Given the description of an element on the screen output the (x, y) to click on. 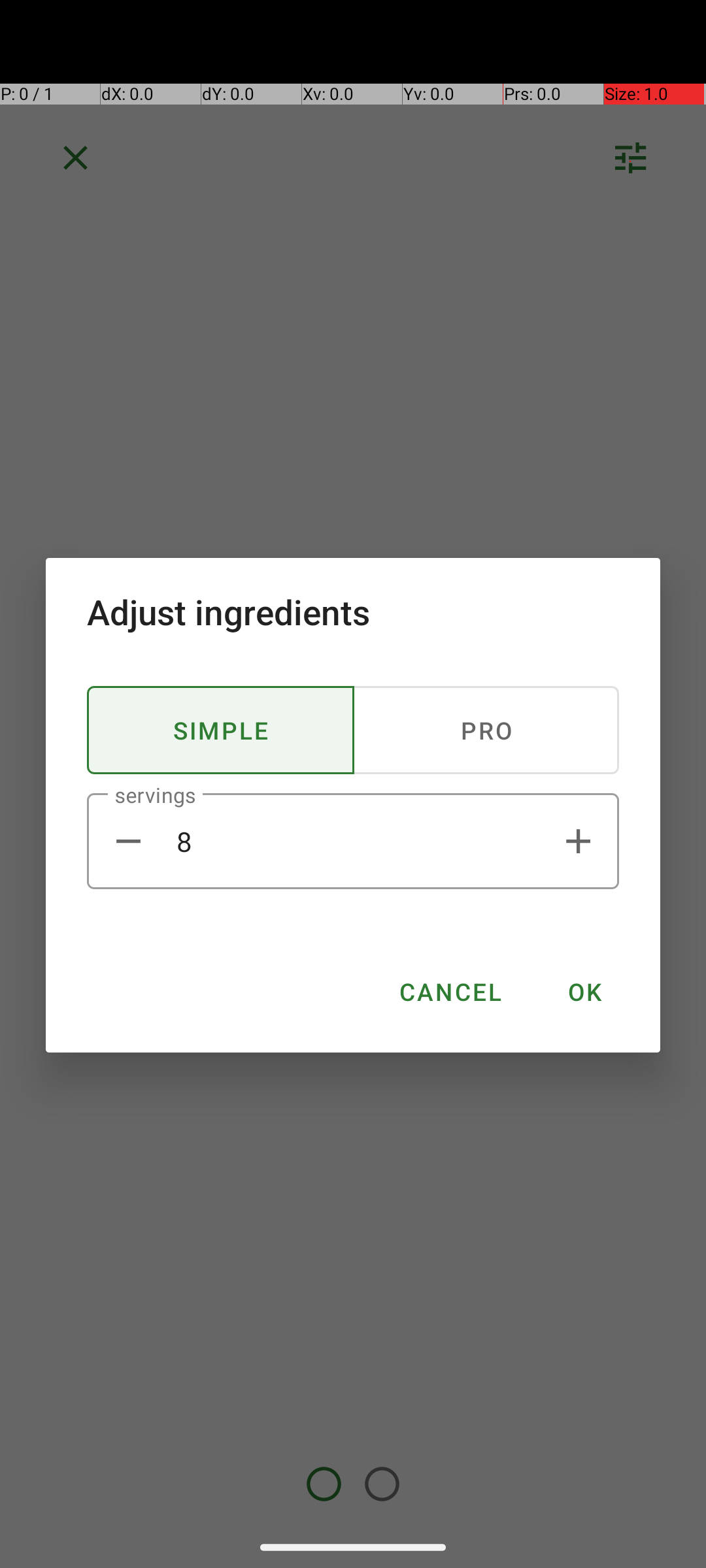
Adjust ingredients Element type: android.widget.TextView (352, 611)
SIMPLE Element type: android.widget.CompoundButton (220, 730)
PRO Element type: android.widget.CompoundButton (485, 730)
